Given the description of an element on the screen output the (x, y) to click on. 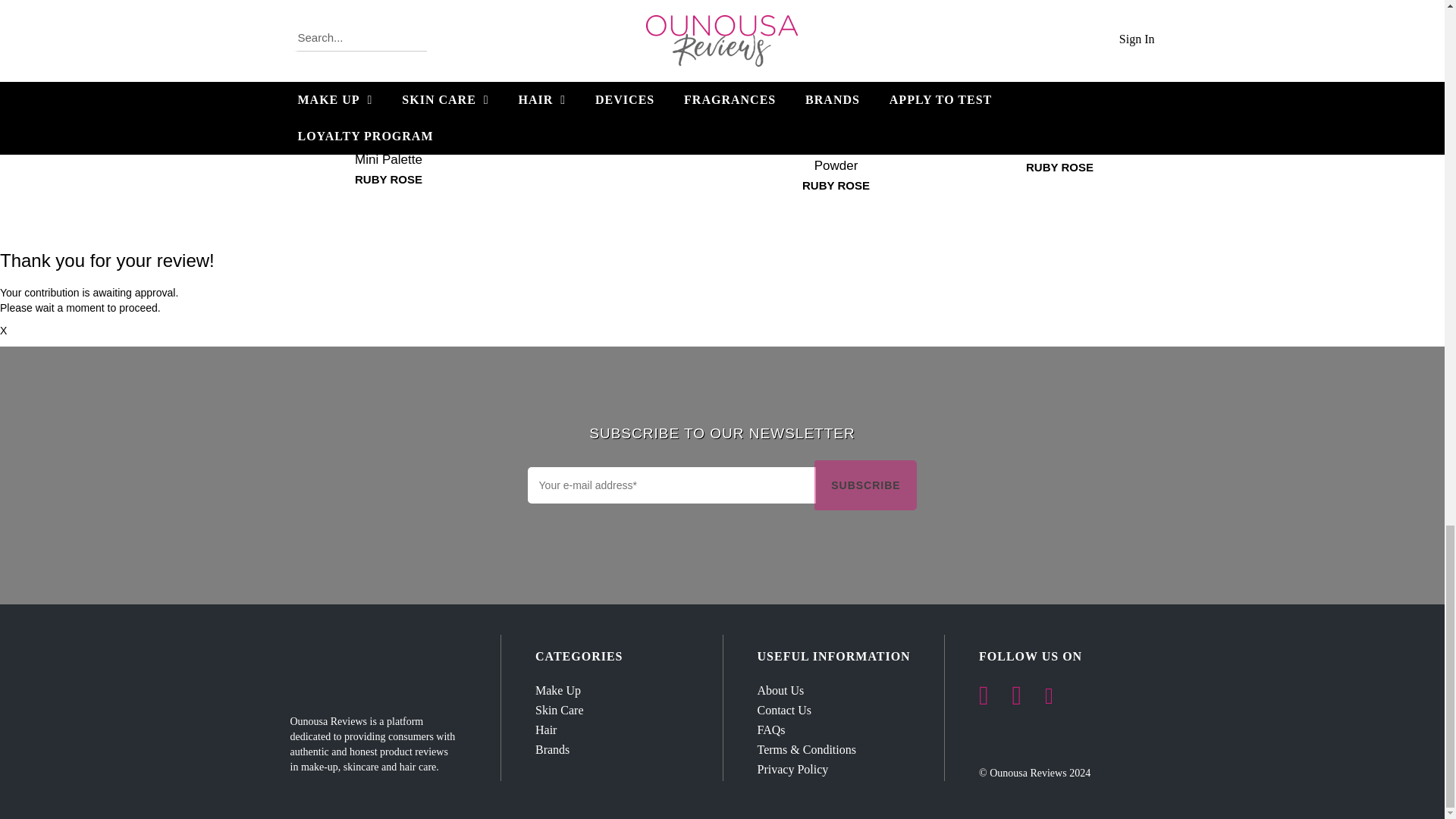
Subscribe (865, 484)
